Given the description of an element on the screen output the (x, y) to click on. 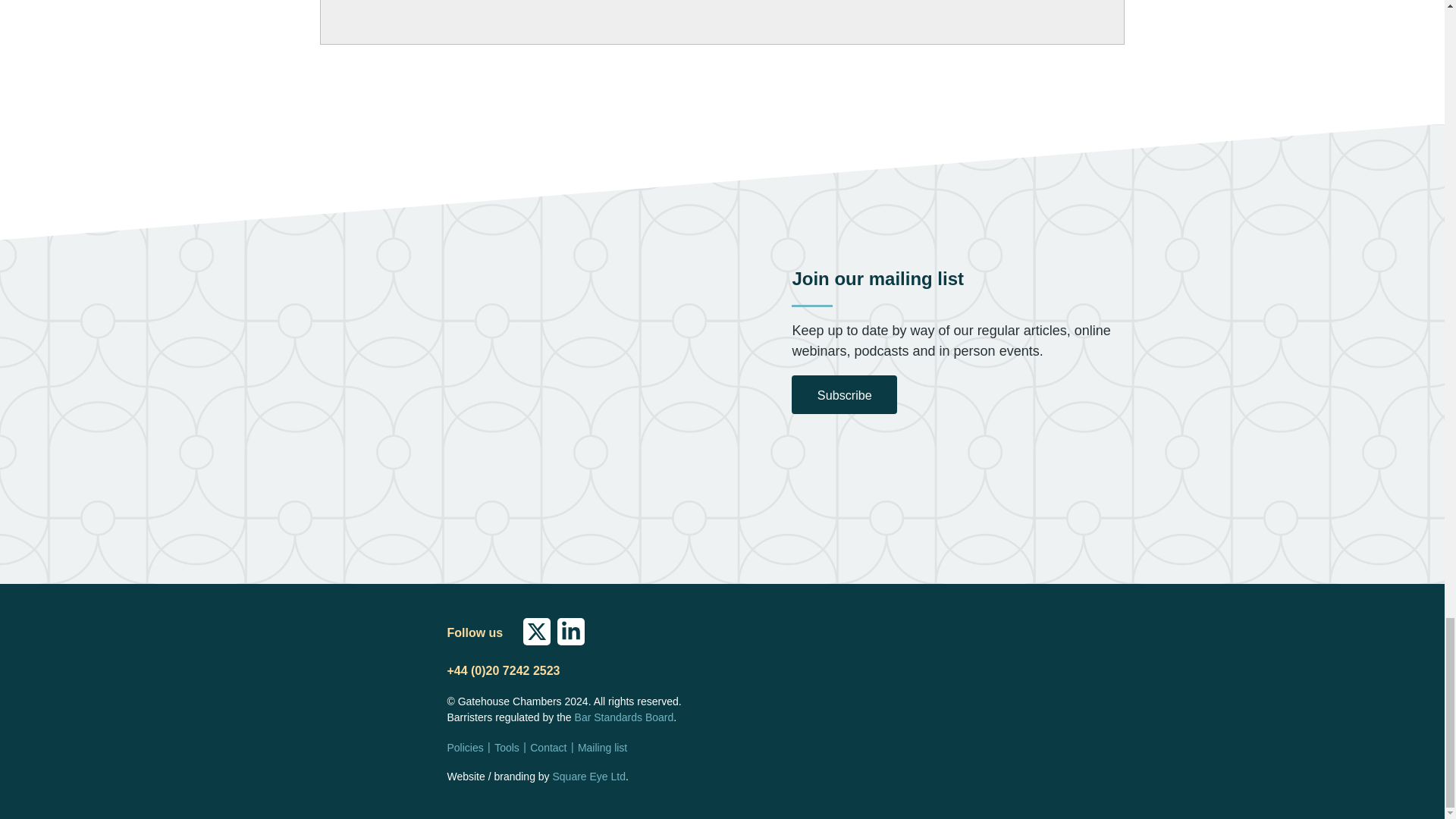
Square Eye (588, 776)
Follow us on LinkedIn (571, 633)
Follow us on Twitter (536, 633)
Gatehouse Chambers (347, 661)
Our phone number (502, 670)
